Given the description of an element on the screen output the (x, y) to click on. 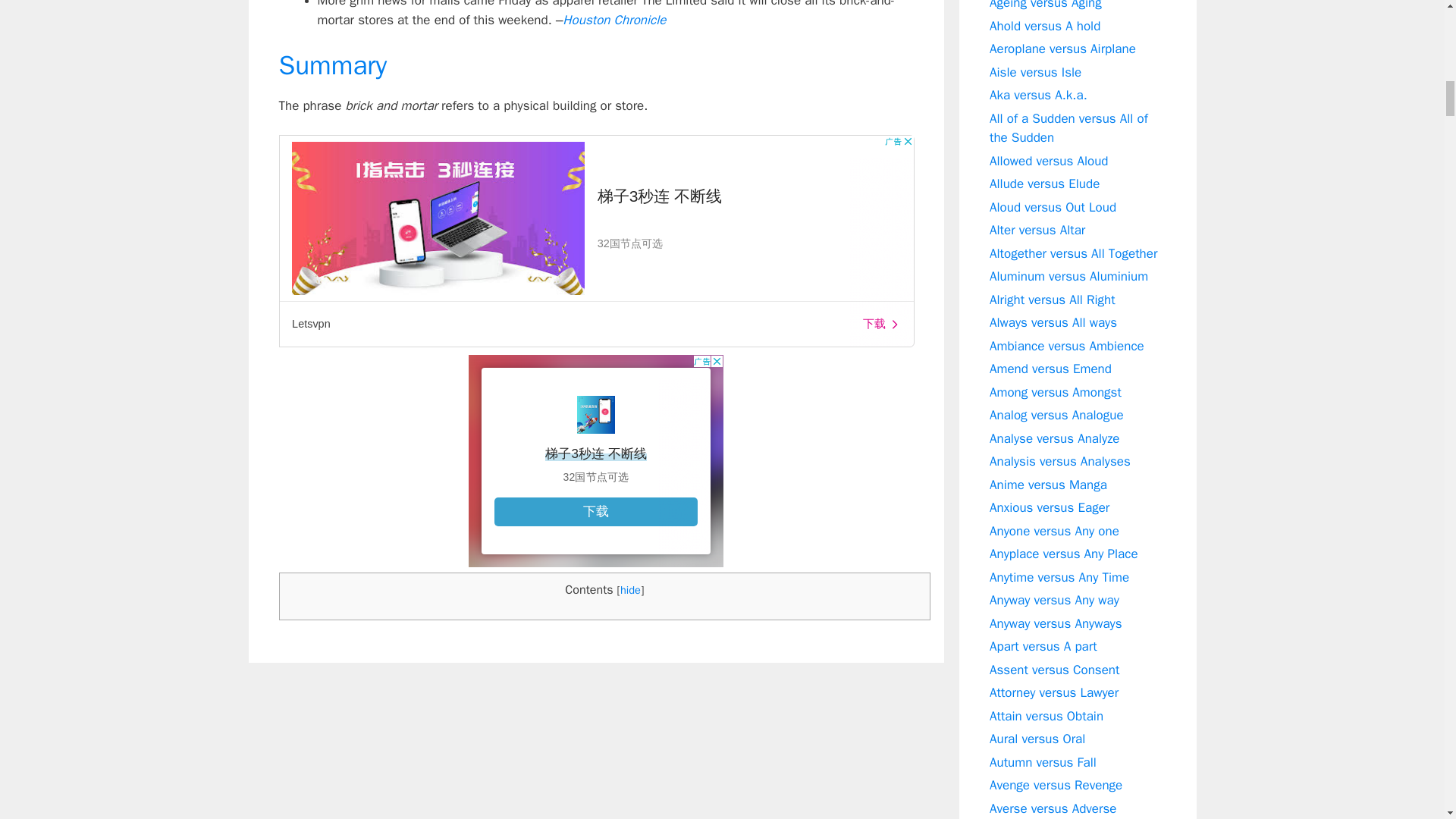
hide (630, 590)
Houston Chronicle (613, 19)
Advertisement (595, 460)
